Given the description of an element on the screen output the (x, y) to click on. 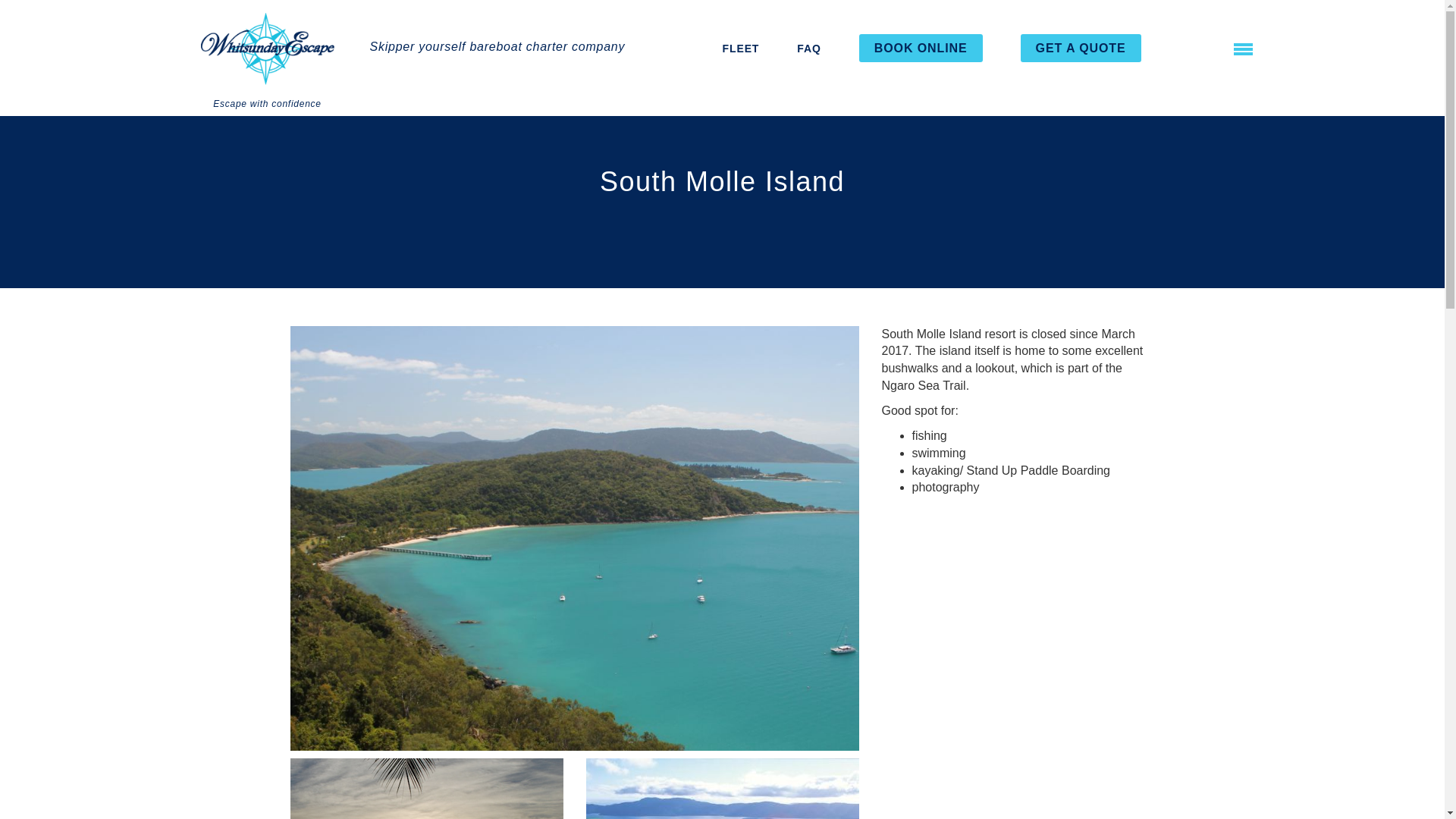
FLEET (740, 48)
FAQ (808, 48)
BOOK ONLINE (920, 48)
GET A QUOTE (1080, 48)
